Given the description of an element on the screen output the (x, y) to click on. 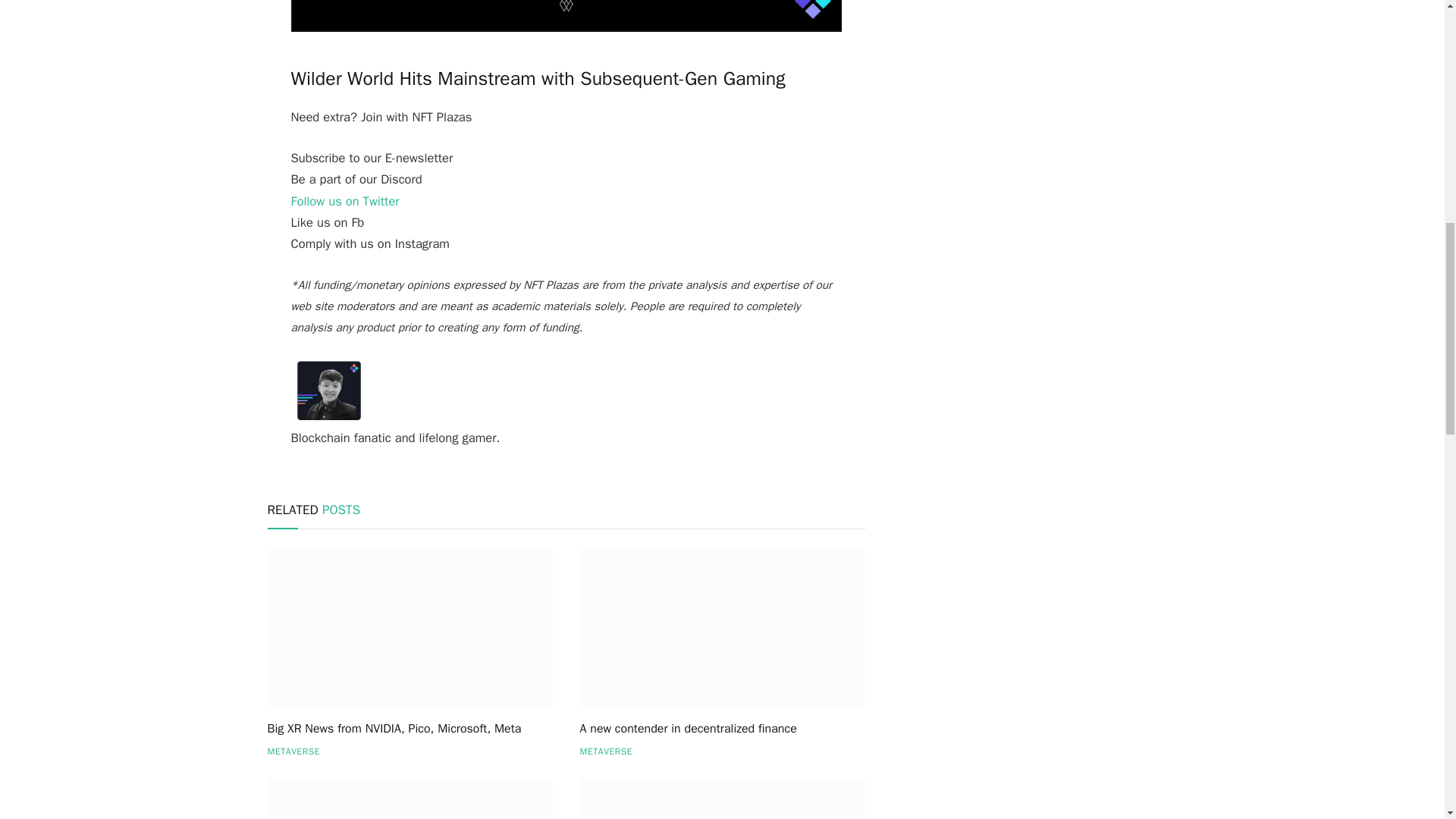
A new contender in decentralized finance (721, 629)
METAVERSE (293, 751)
Follow us on Twitter (344, 201)
Big XR News from NVIDIA, Pico, Microsoft, Meta (408, 629)
Big XR News from NVIDIA, Pico, Microsoft, Meta (408, 729)
Chicken Derby Seek New Ownership and Funding Opportunity (721, 798)
A new contender in decentralized finance (721, 729)
